Given the description of an element on the screen output the (x, y) to click on. 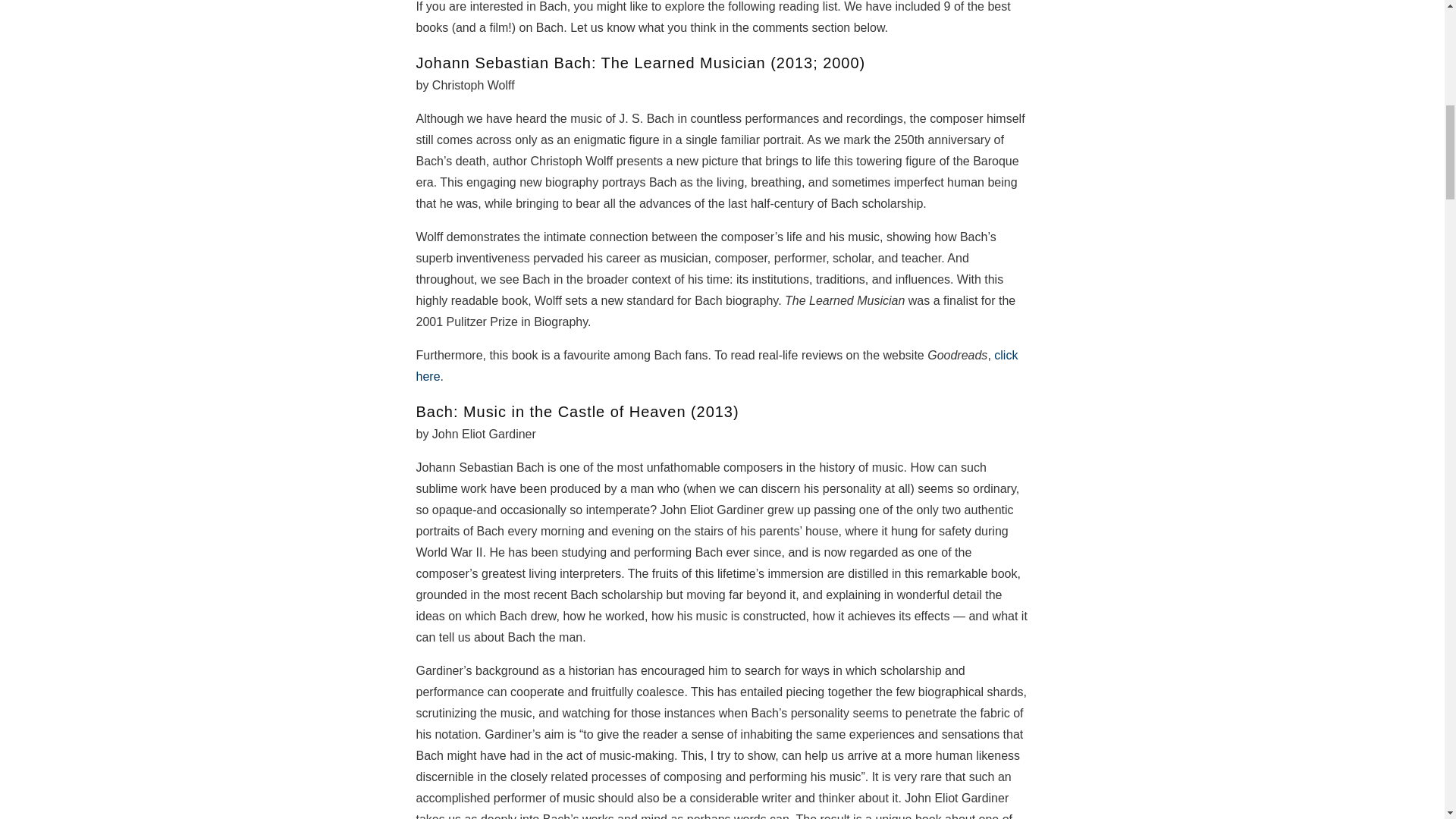
click here (715, 365)
